Given the description of an element on the screen output the (x, y) to click on. 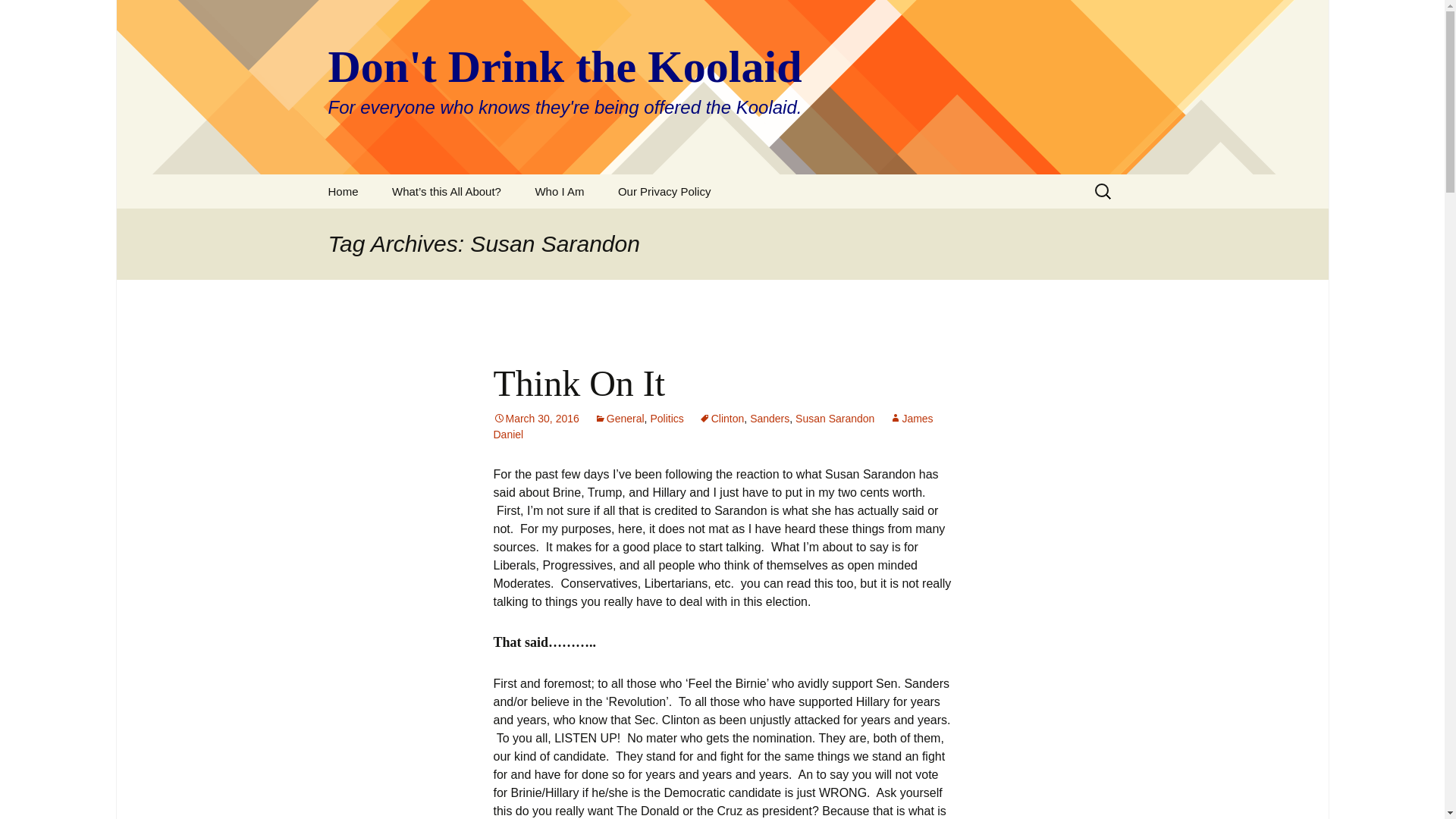
Search (34, 15)
Sanders (769, 418)
Clinton (721, 418)
Home (342, 191)
Susan Sarandon (834, 418)
General (619, 418)
Search (18, 15)
Politics (665, 418)
